Given the description of an element on the screen output the (x, y) to click on. 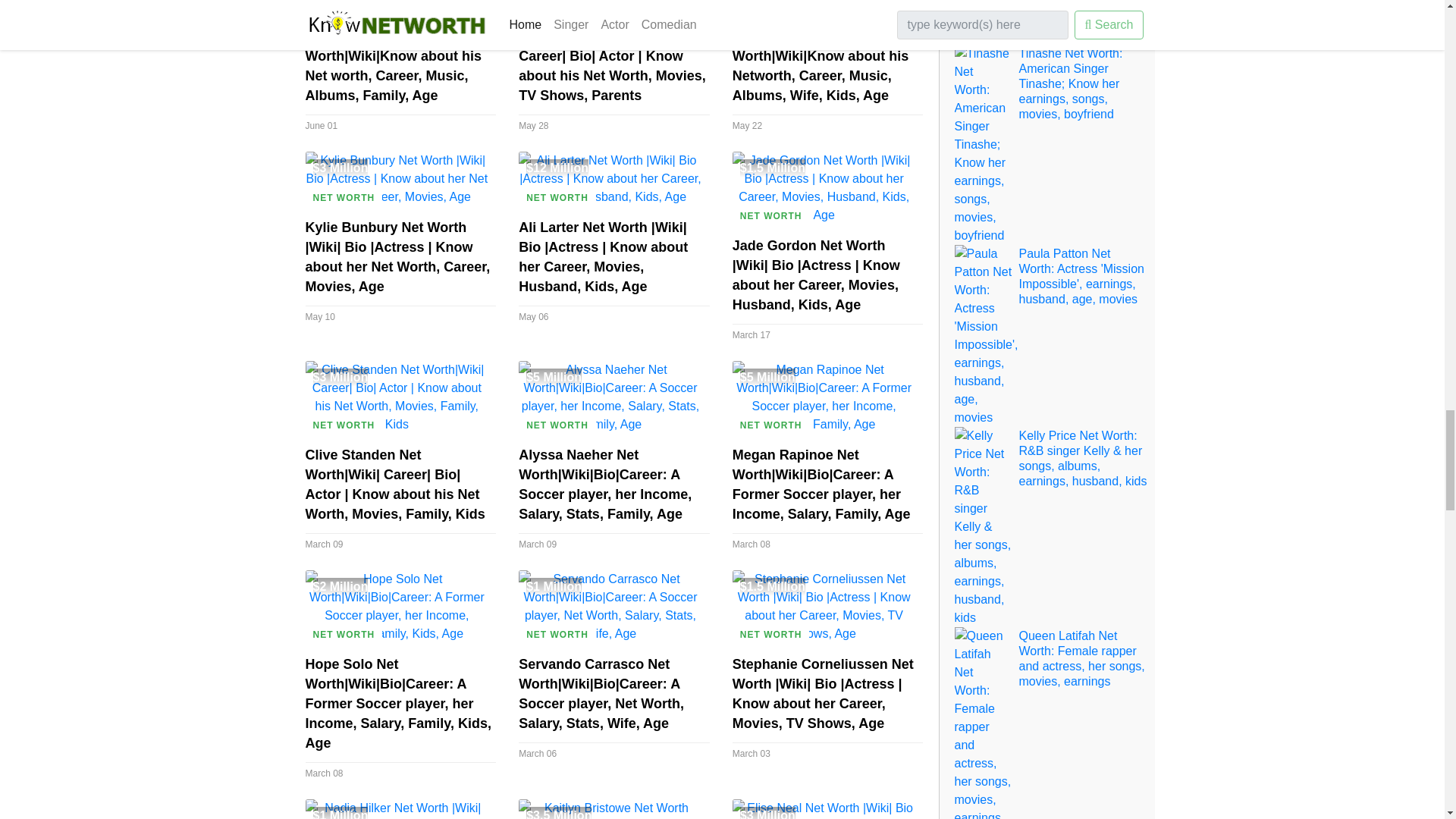
NET WORTH (556, 7)
NET WORTH (342, 7)
NET WORTH (770, 7)
